Given the description of an element on the screen output the (x, y) to click on. 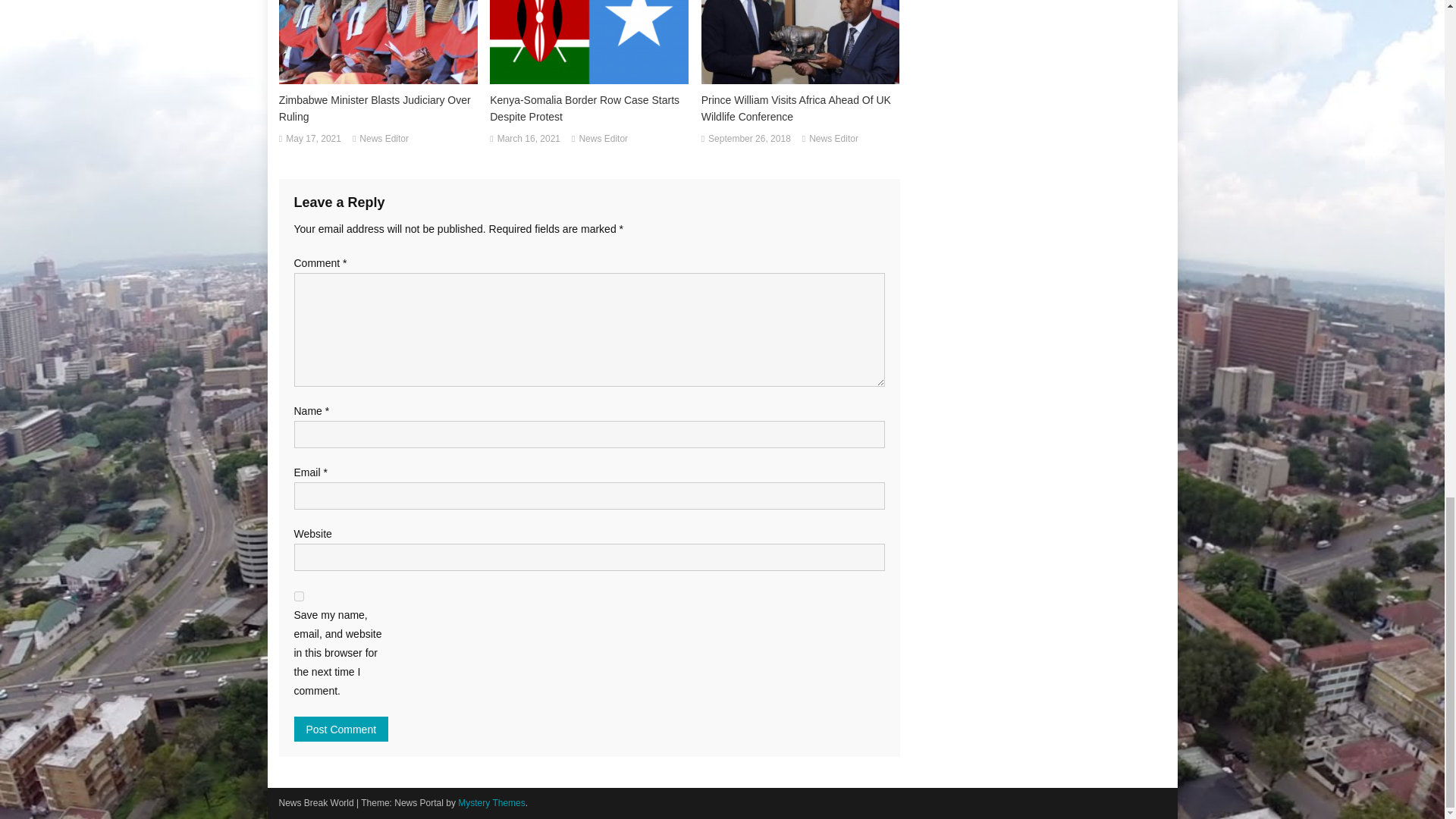
News Editor (602, 139)
Post Comment (341, 729)
May 17, 2021 (312, 139)
September 26, 2018 (748, 139)
Prince William Visits Africa Ahead Of UK Wildlife Conference (800, 108)
News Editor (834, 139)
Kenya-Somalia Border Row Case Starts Despite Protest (588, 108)
March 16, 2021 (528, 139)
Zimbabwe Minister Blasts Judiciary Over Ruling (378, 108)
Post Comment (341, 729)
